Given the description of an element on the screen output the (x, y) to click on. 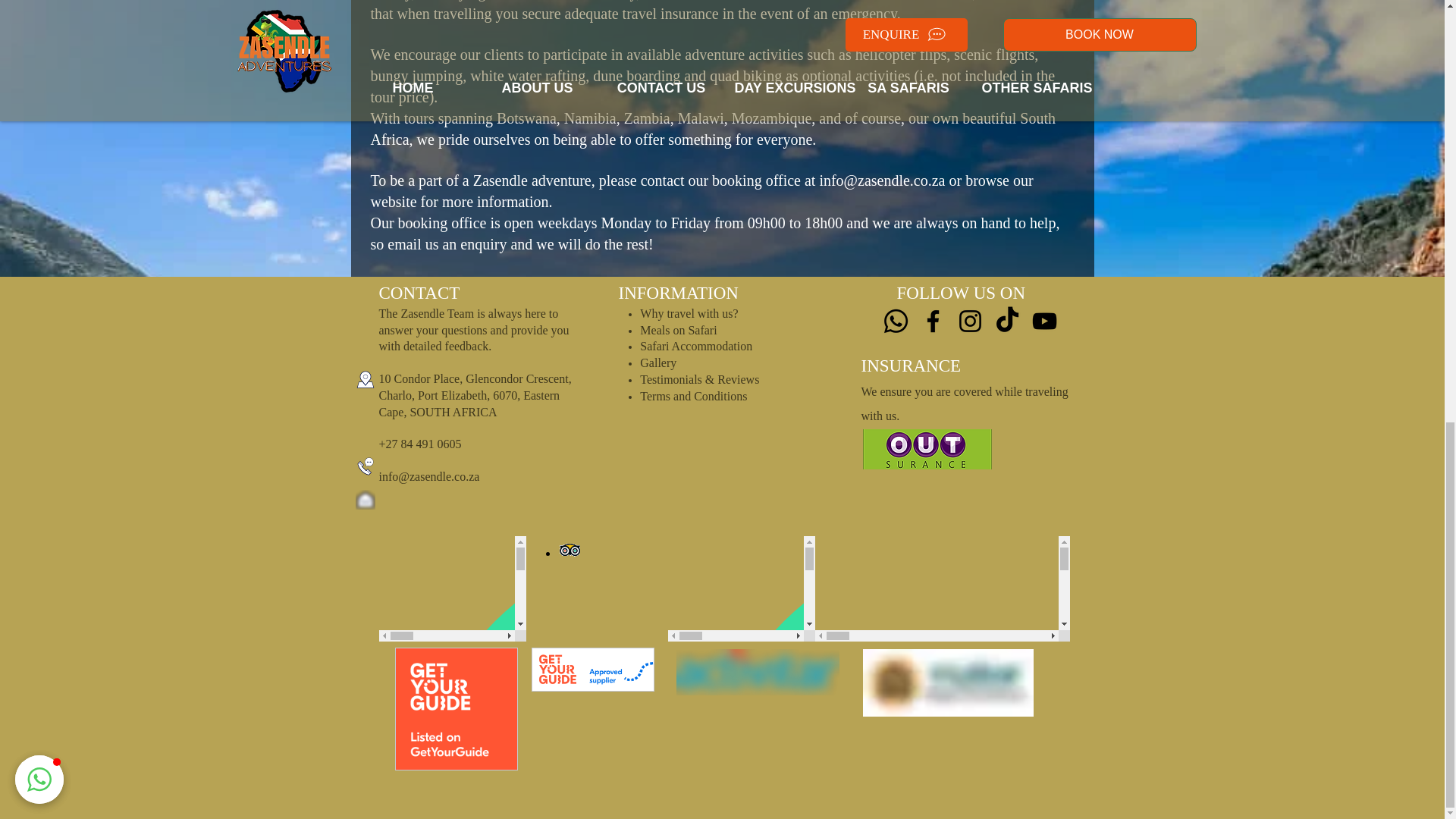
GetYourGuide Listing (475, 713)
Rave Reviews (940, 588)
Zasendle Adventures Review Rating (739, 588)
Terms and Conditions (693, 397)
Supply Partner Badge (611, 713)
Why travel with us? (689, 314)
Reccommended on TripAdvisor (594, 588)
Safari Accommodation (696, 346)
Gallery (658, 362)
TripAdvisor (451, 588)
Meals on Safari (678, 329)
